Given the description of an element on the screen output the (x, y) to click on. 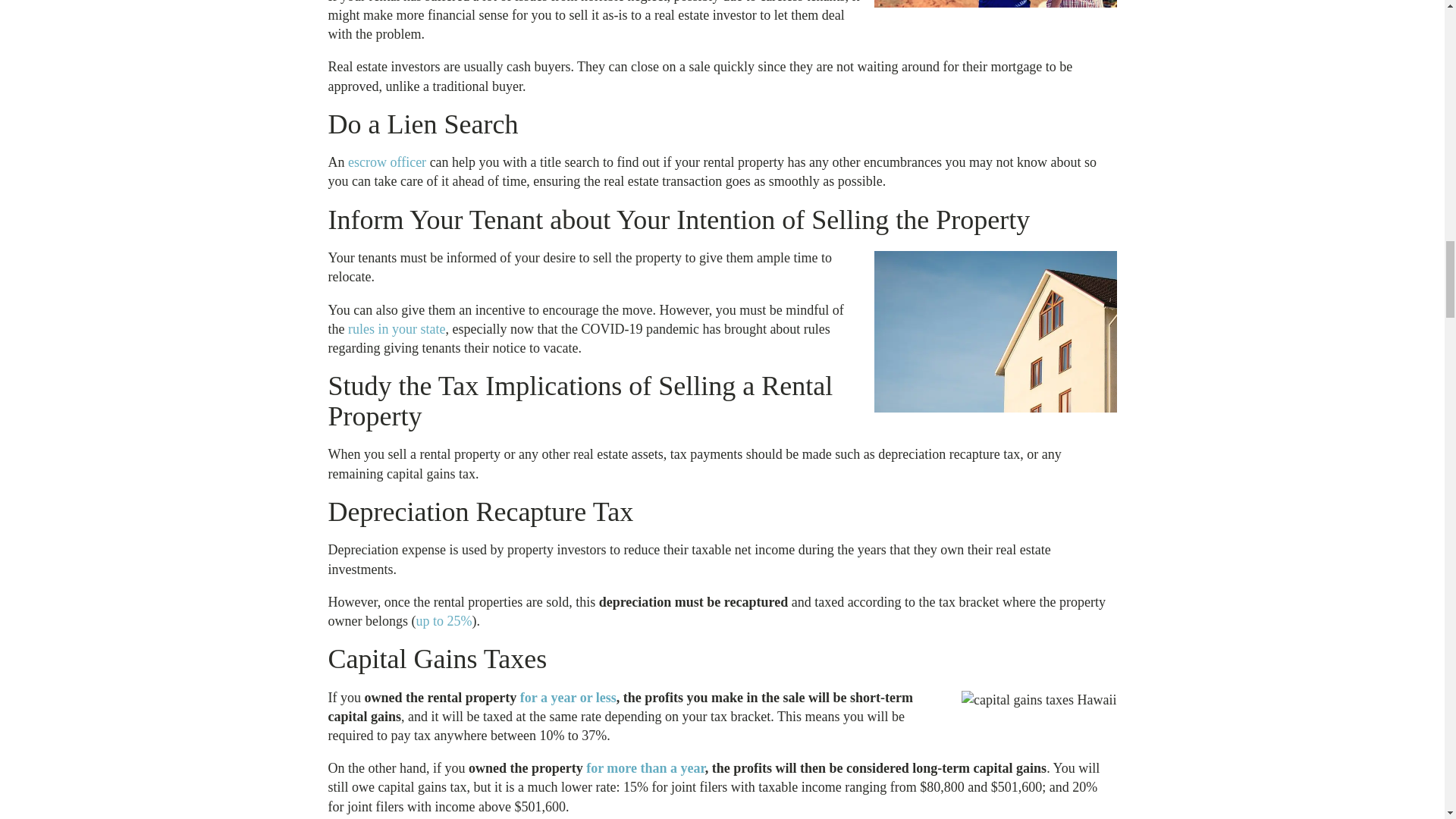
rules in your state (396, 328)
for a year or less (567, 697)
for more than a year (645, 767)
escrow officer (386, 161)
